Given the description of an element on the screen output the (x, y) to click on. 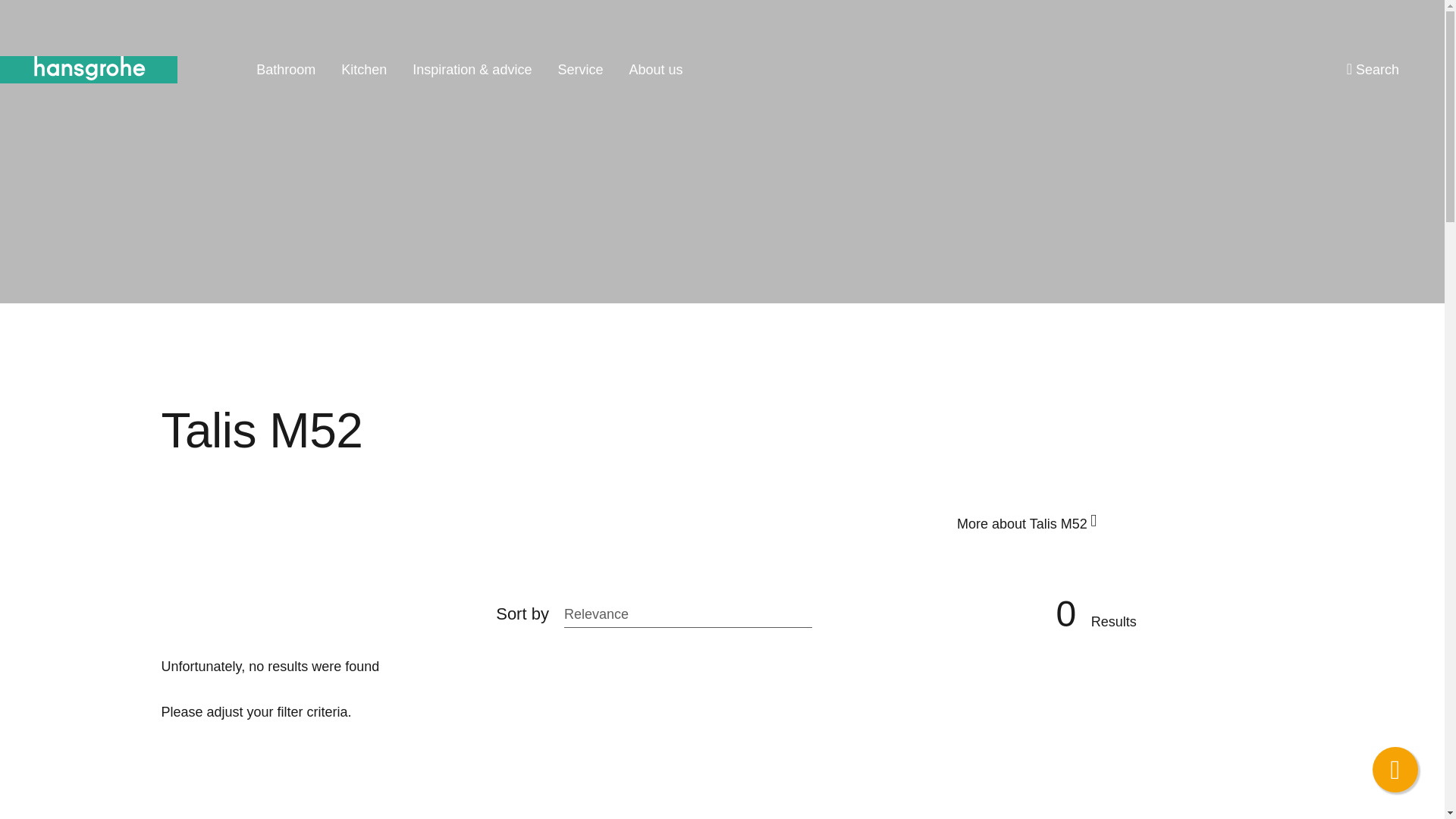
hansgrohe logo (88, 69)
More about Talis M52 (1026, 520)
Service (579, 69)
Bathroom (285, 69)
About us (655, 69)
Kitchen (363, 69)
